Given the description of an element on the screen output the (x, y) to click on. 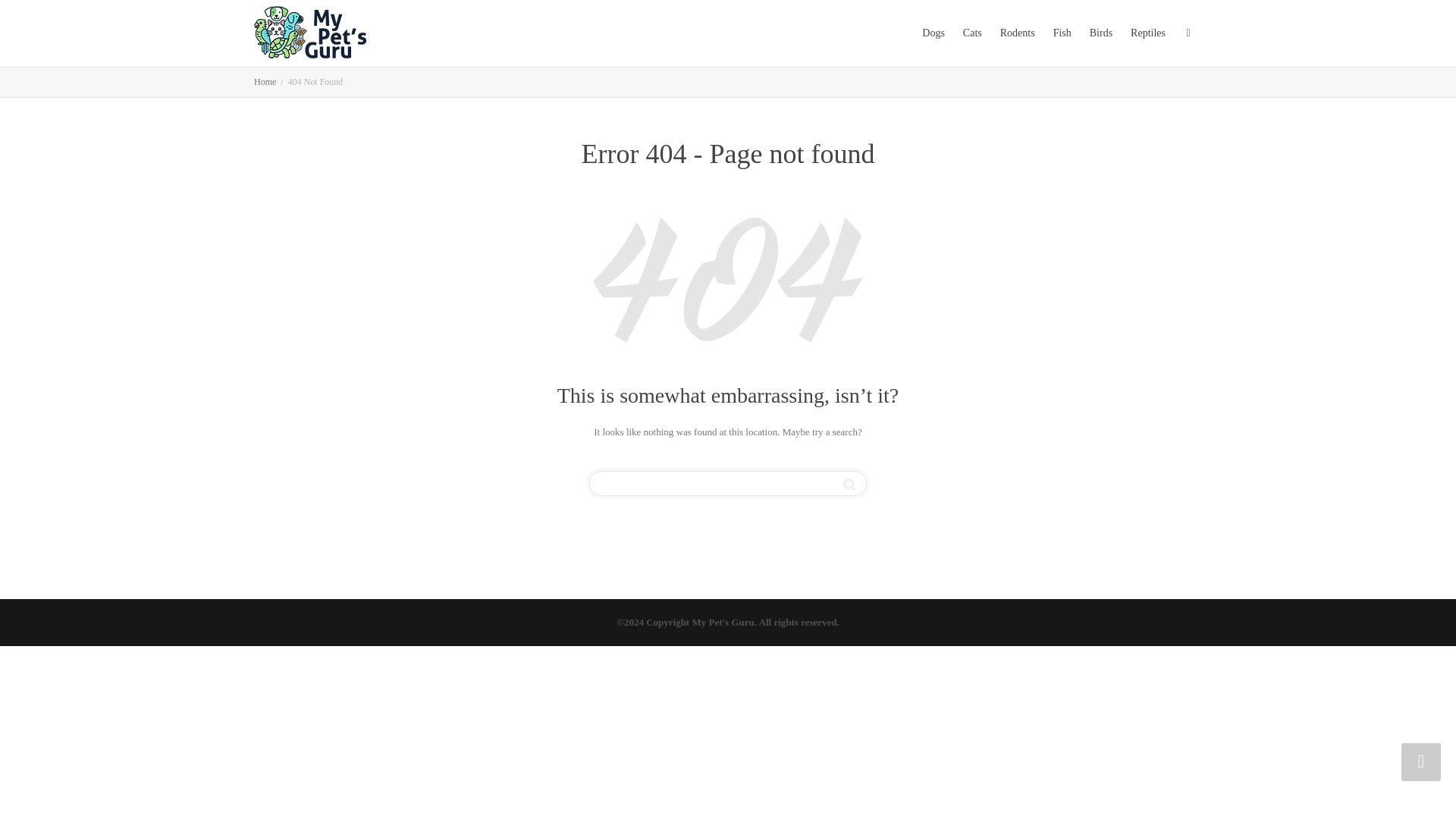
My Pet's Guru (309, 31)
Search (849, 484)
My Pet's Guru (264, 81)
Home (264, 81)
Search (849, 484)
Search (849, 484)
